Given the description of an element on the screen output the (x, y) to click on. 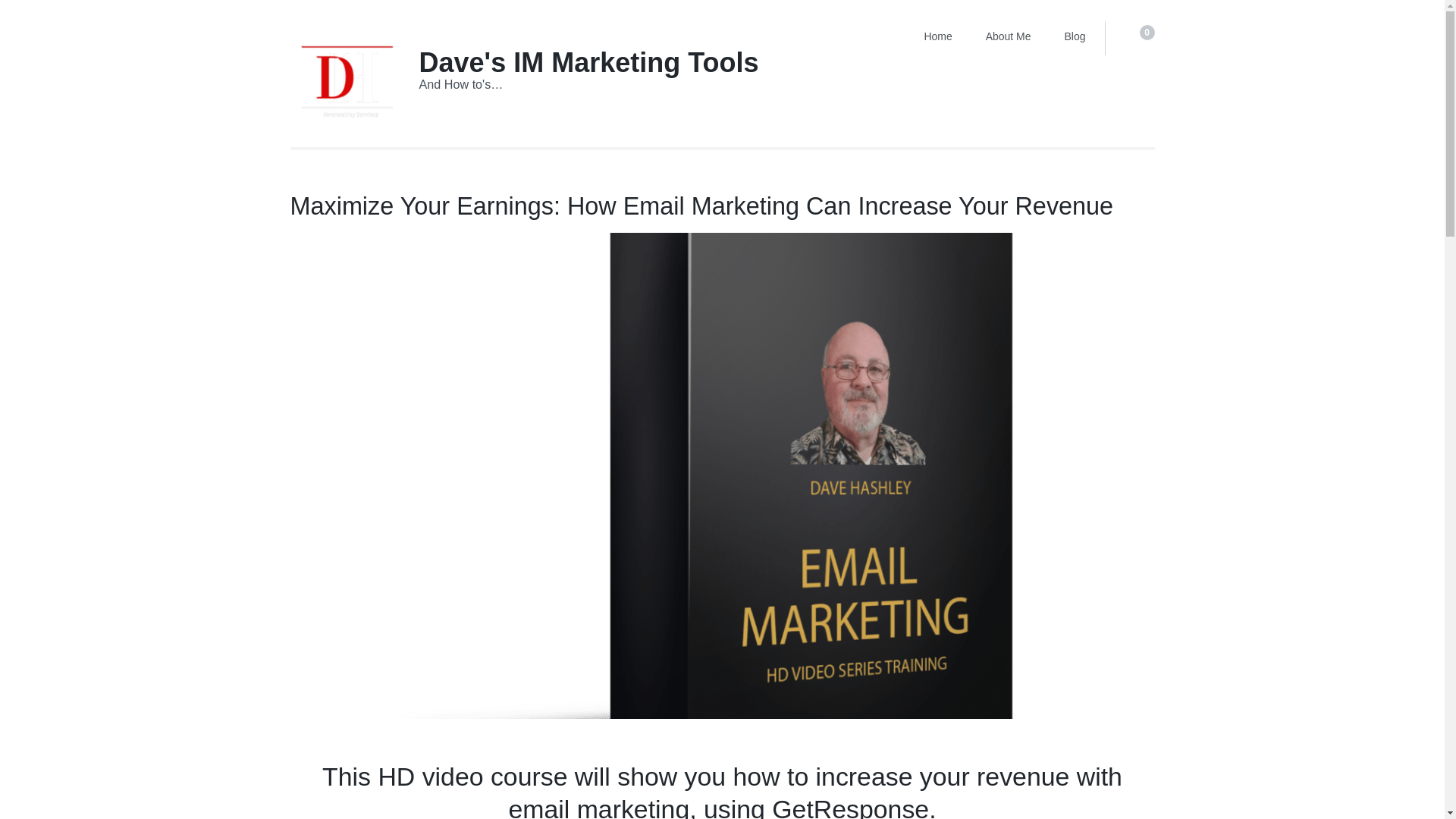
Blog (1075, 36)
About Me (1007, 36)
Home (937, 36)
Dave's IM Marketing Tools (588, 61)
